Given the description of an element on the screen output the (x, y) to click on. 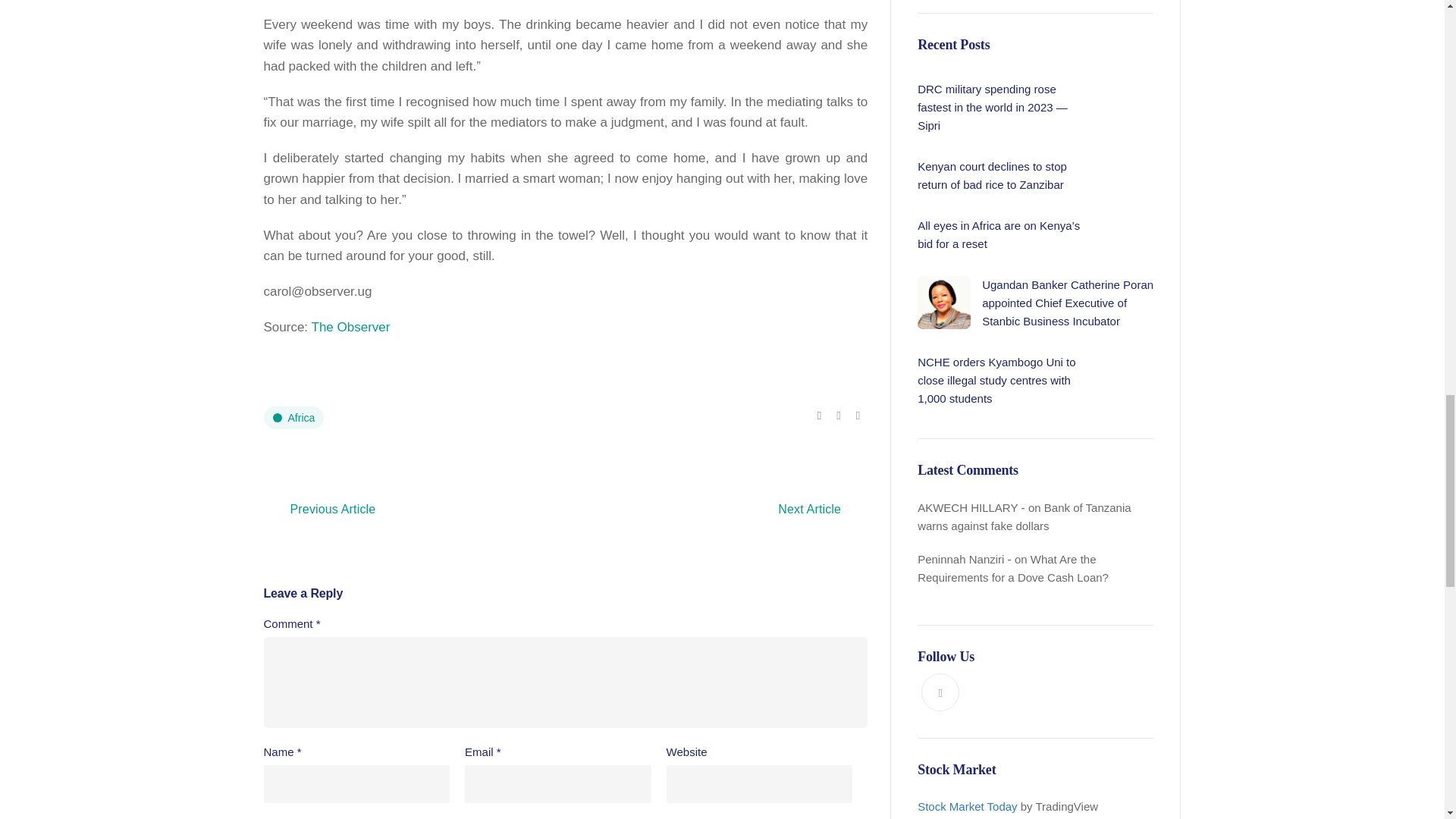
Share on LinkedIn (858, 415)
Next Article (809, 509)
Share on Twitter (837, 415)
The Observer (350, 327)
Share on Facebook (818, 415)
Previous Article (333, 509)
Africa (293, 417)
